Given the description of an element on the screen output the (x, y) to click on. 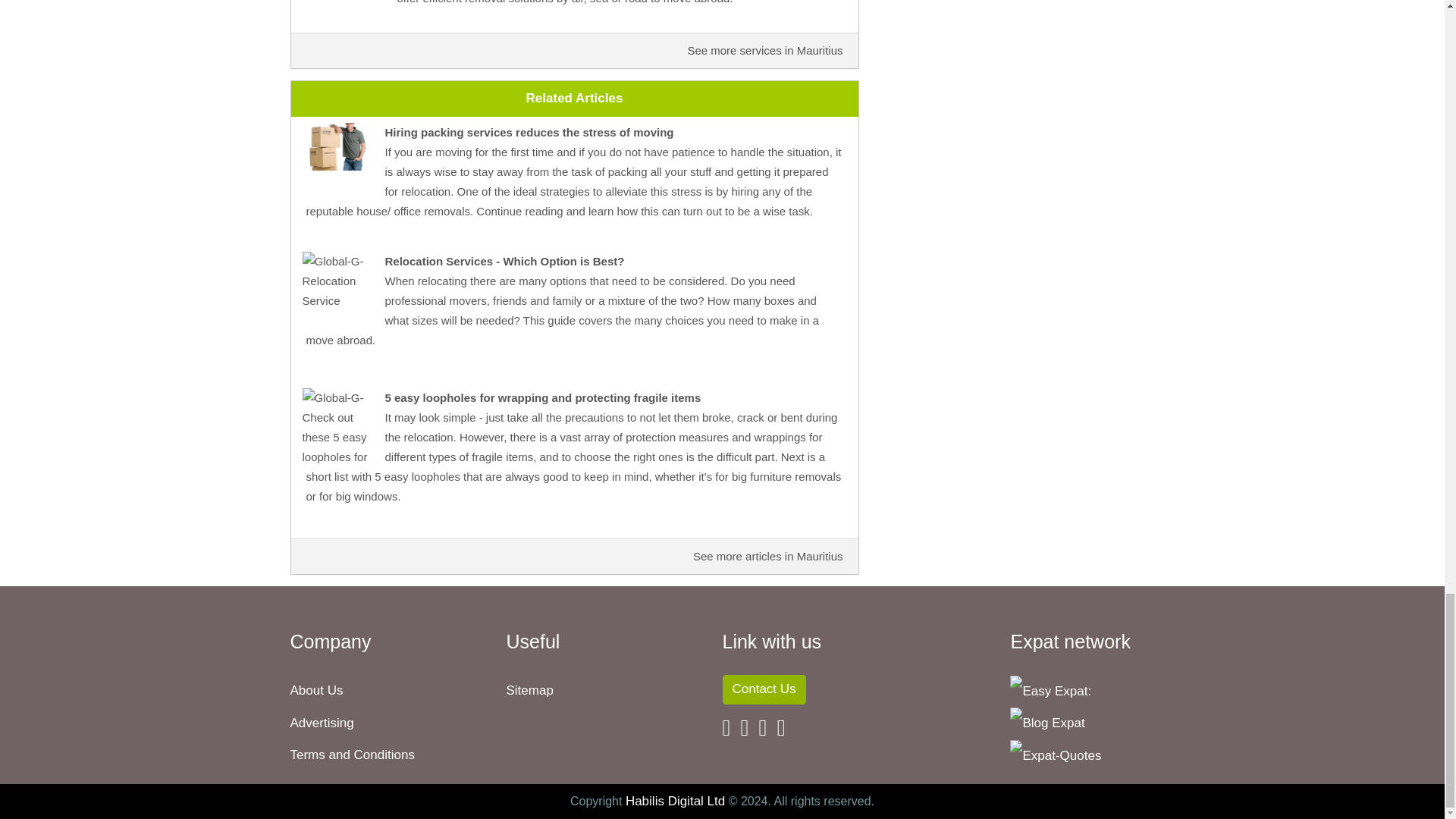
See more services in Mauritius (765, 50)
See more articles in Mauritius (768, 555)
Expat-Quotes (1055, 755)
